Given the description of an element on the screen output the (x, y) to click on. 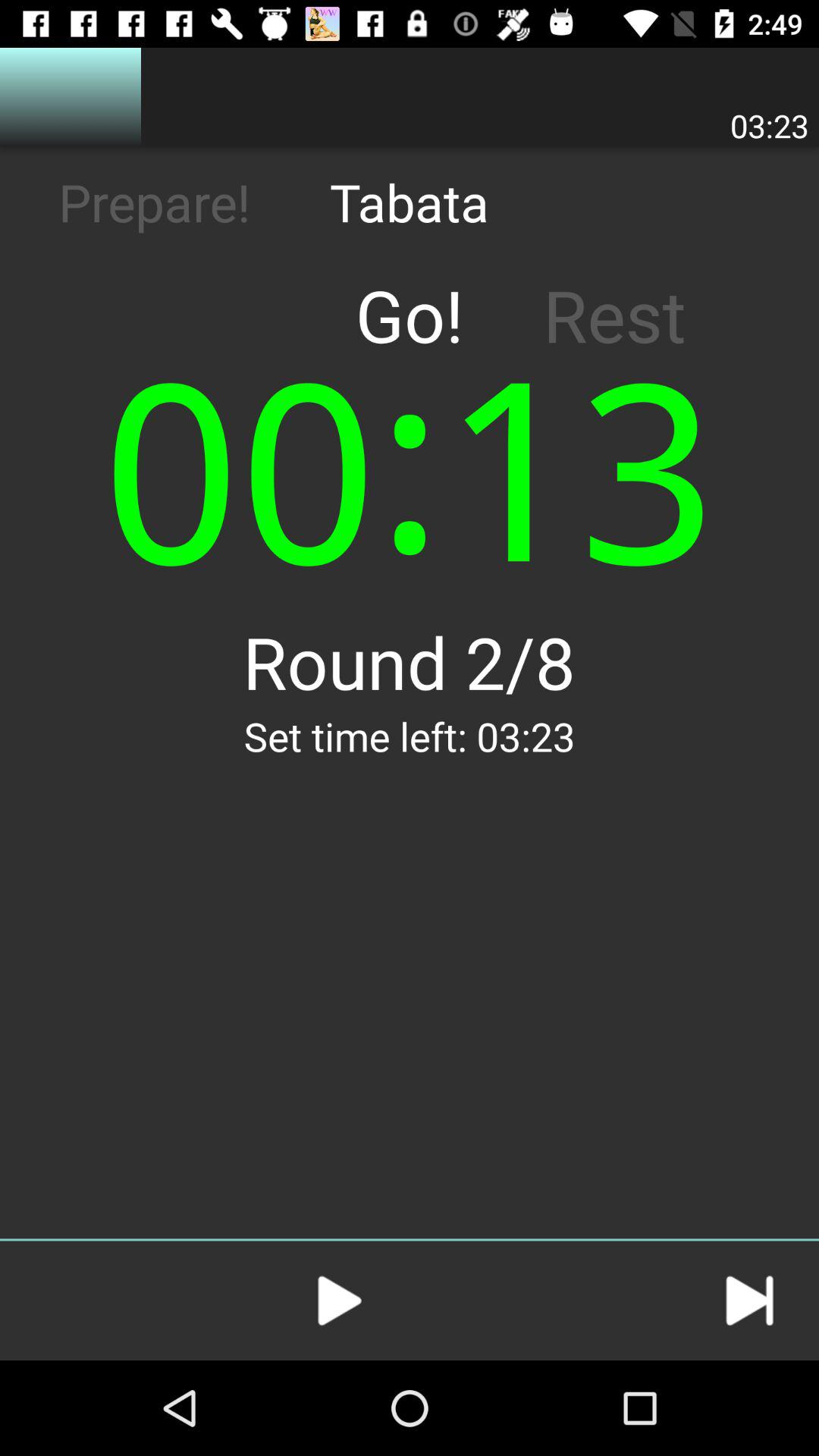
start workout (339, 1300)
